Given the description of an element on the screen output the (x, y) to click on. 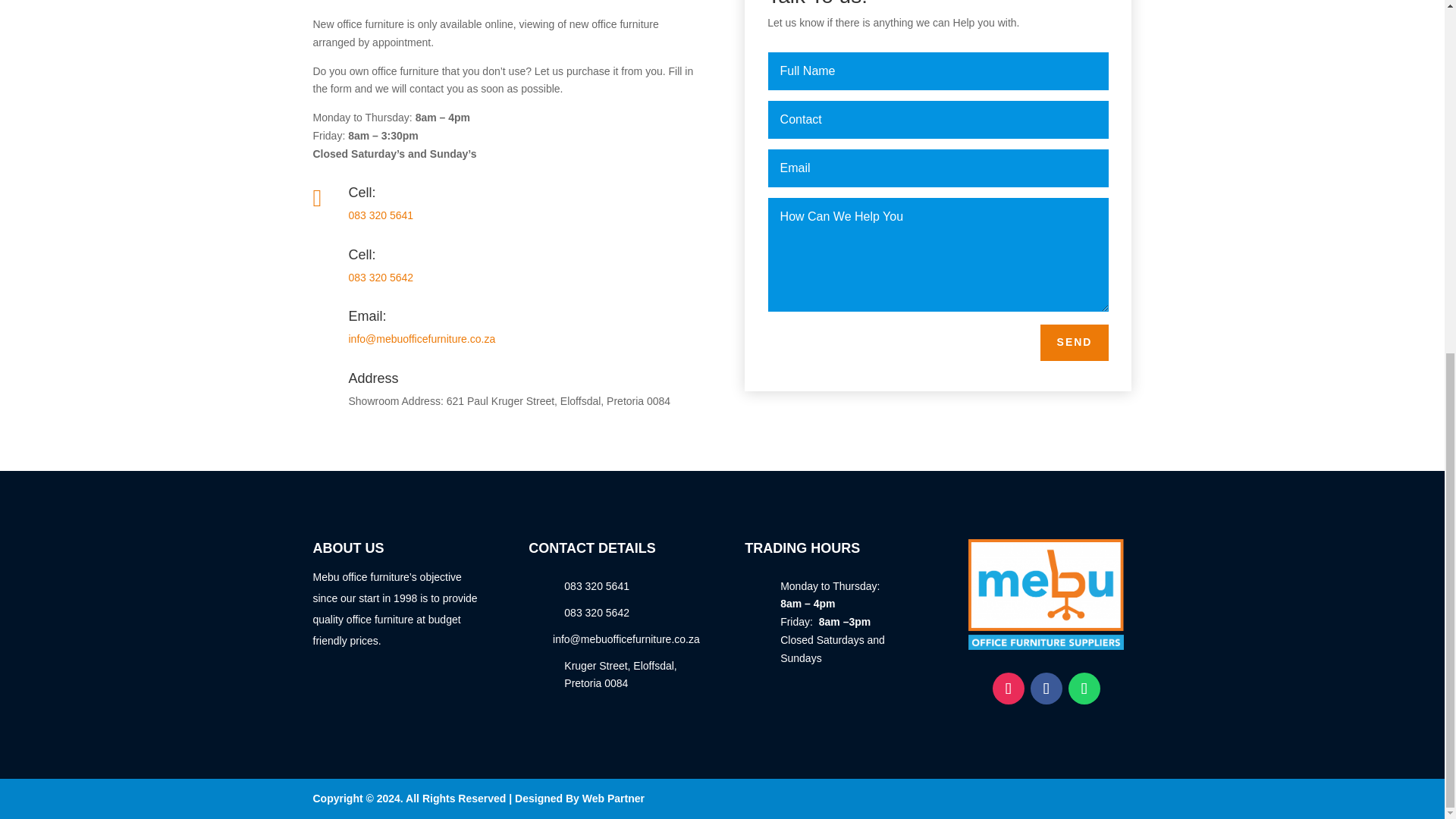
Follow on Instagram (1008, 687)
Follow on WhatsApp (1084, 687)
Mebu-Office-furniture (1046, 593)
Only letters allowed. (938, 71)
Only letters and numbers allowed. (938, 119)
Follow on Facebook (1046, 687)
